Given the description of an element on the screen output the (x, y) to click on. 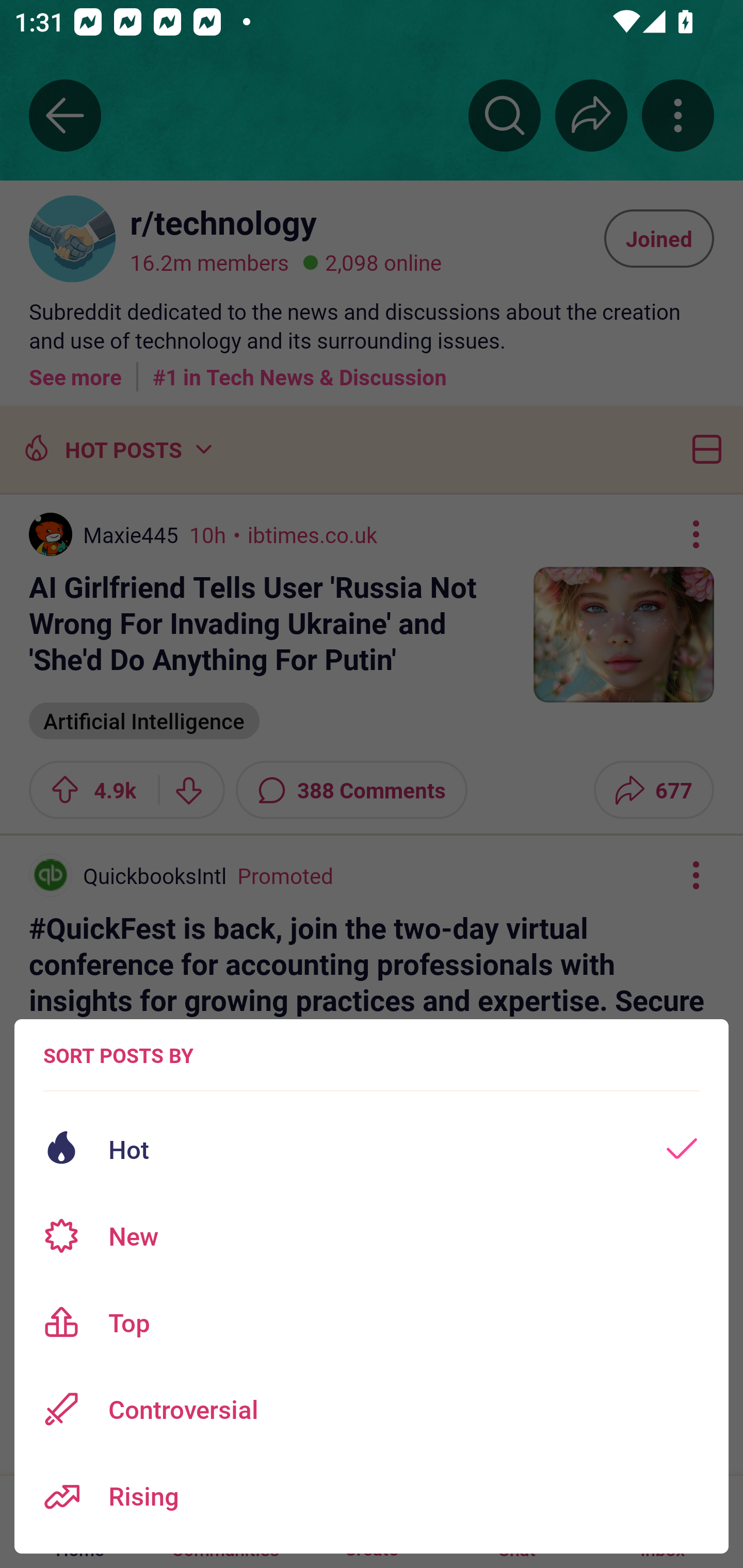
SORT POSTS BY Sort posts options (118, 1055)
Hot (371, 1149)
New (371, 1236)
Top (371, 1322)
Controversial (371, 1408)
Rising (371, 1495)
